Given the description of an element on the screen output the (x, y) to click on. 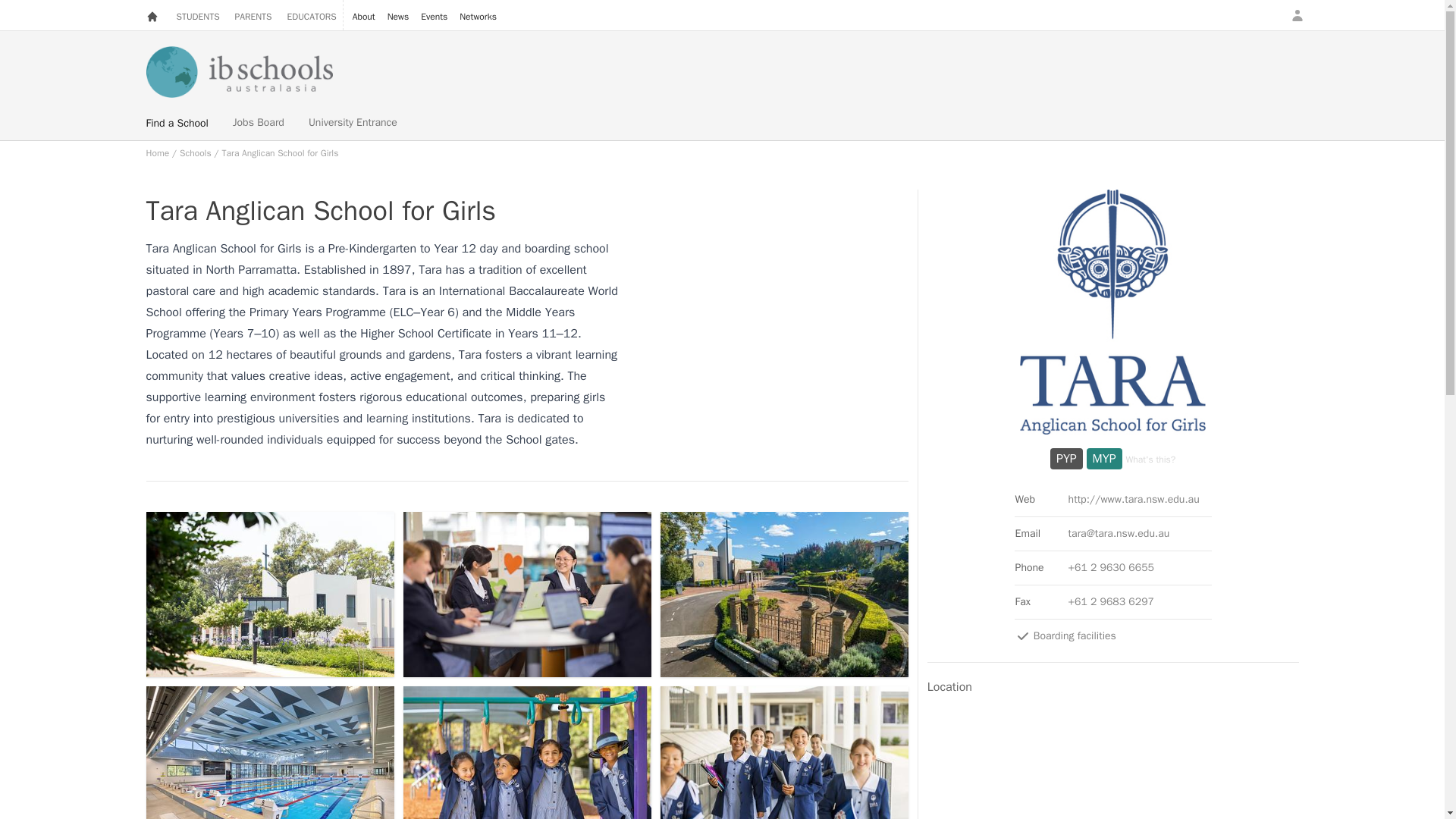
News (398, 15)
PARENTS (253, 15)
University Entrance (352, 122)
STUDENTS (197, 15)
About (363, 15)
Open user menu (1296, 14)
Jobs Board (258, 122)
Find a School (176, 122)
Tara Anglican School for Girls (280, 152)
Networks (478, 15)
IB Schools Australasia (721, 67)
Events (433, 15)
Schools (195, 152)
EDUCATORS (311, 15)
Home (156, 152)
